Given the description of an element on the screen output the (x, y) to click on. 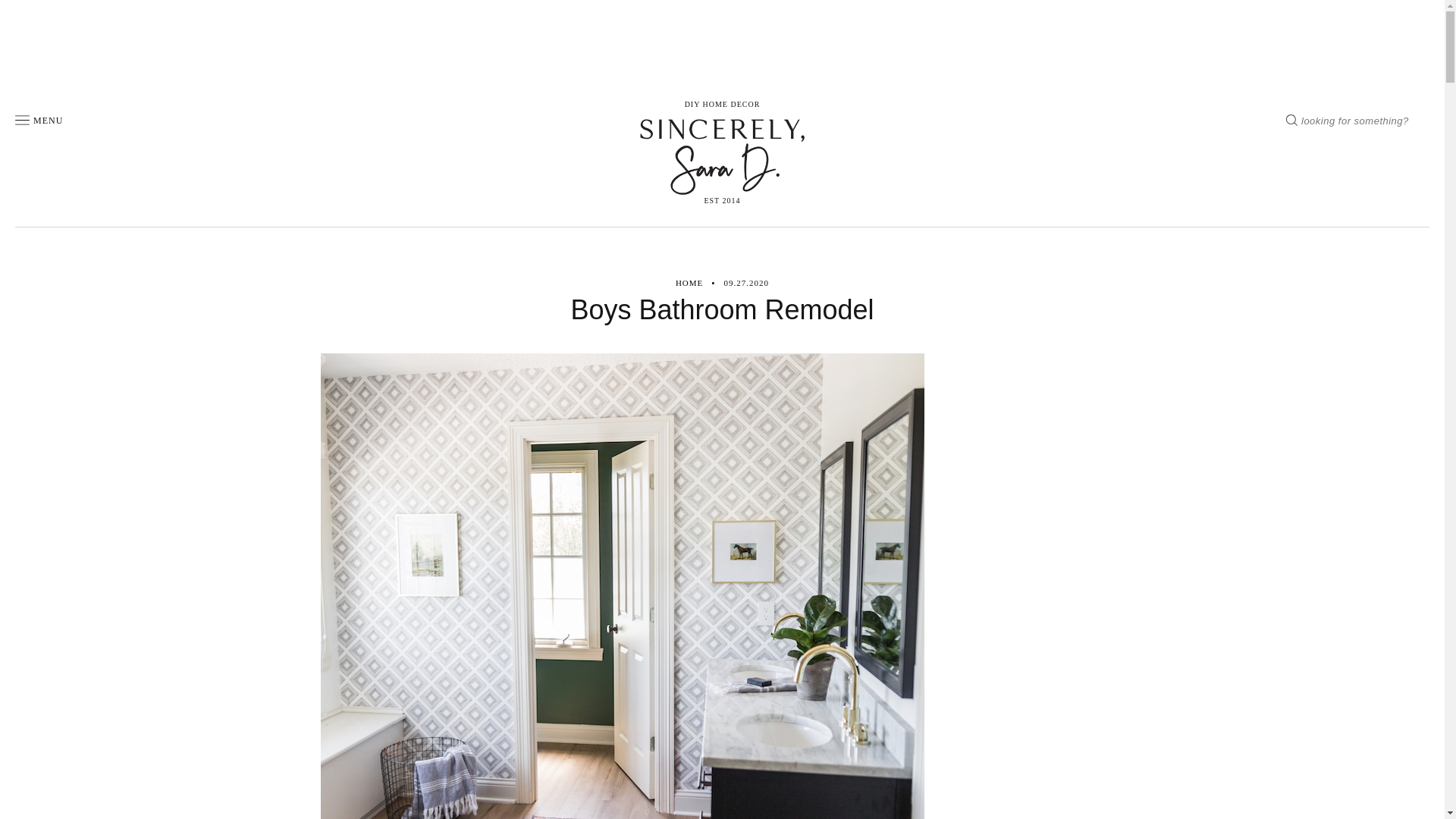
HOME (689, 282)
